Given the description of an element on the screen output the (x, y) to click on. 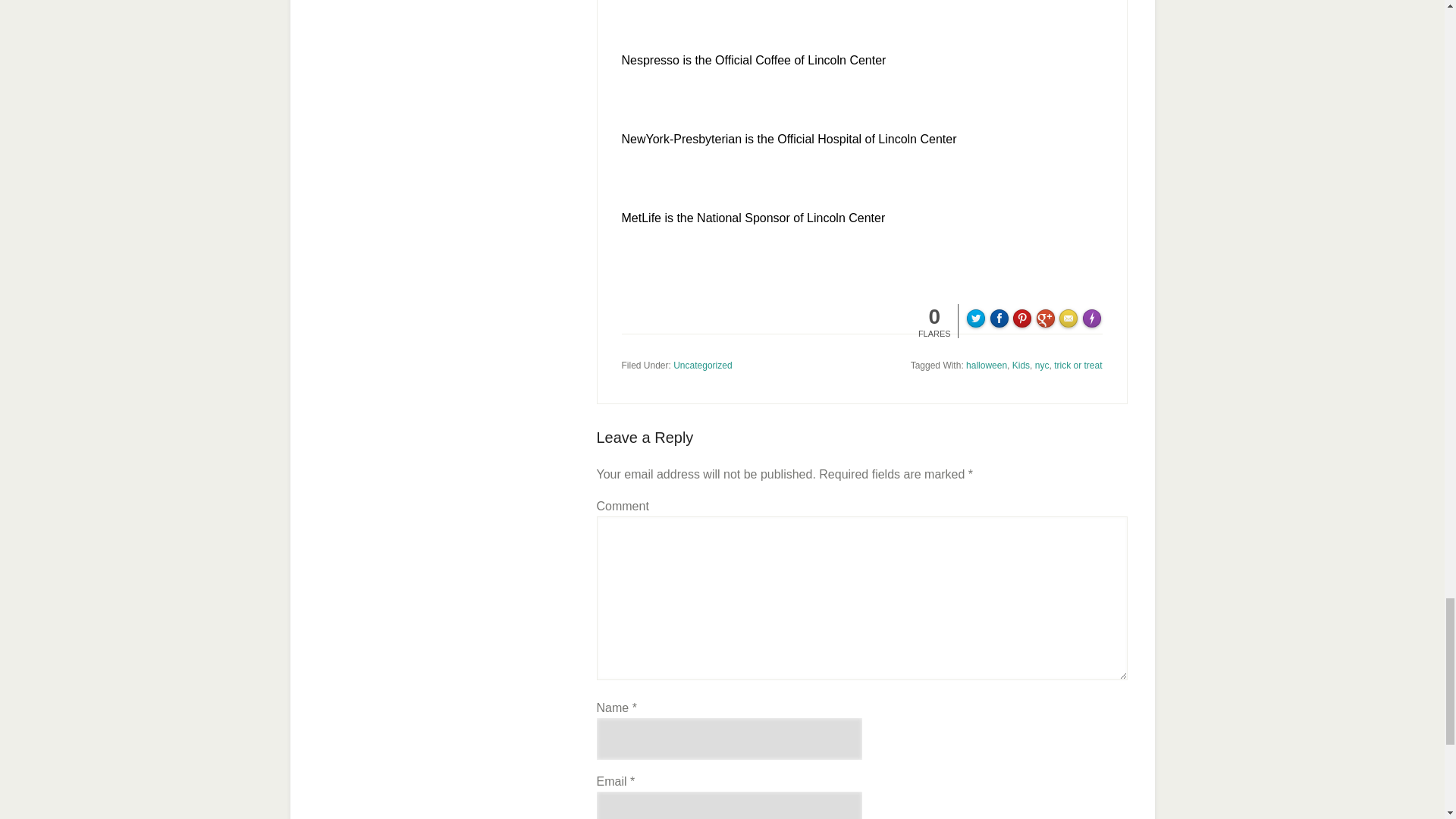
halloween (986, 365)
Kids (1020, 365)
trick or treat (1078, 365)
nyc (1042, 365)
Uncategorized (702, 365)
